Given the description of an element on the screen output the (x, y) to click on. 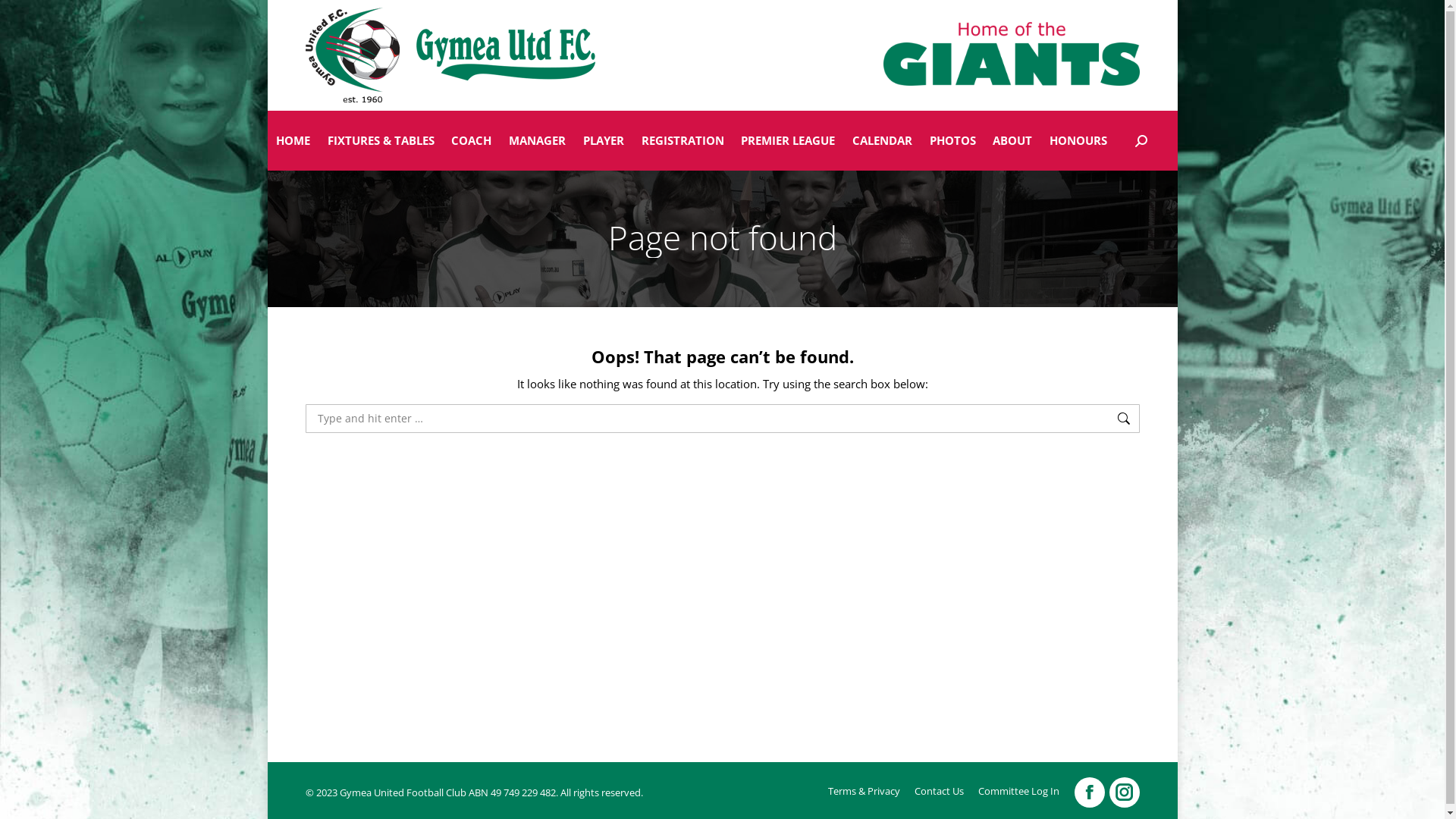
FIXTURES & TABLES Element type: text (380, 140)
HOME Element type: text (292, 140)
Facebook Element type: text (1088, 792)
PREMIER LEAGUE Element type: text (788, 140)
Go! Element type: text (15, 16)
CALENDAR Element type: text (882, 140)
Instagram Element type: text (1123, 792)
Committee Log In Element type: text (1018, 791)
HONOURS Element type: text (1078, 140)
Terms & Privacy Element type: text (864, 791)
PHOTOS Element type: text (952, 140)
ABOUT Element type: text (1012, 140)
REGISTRATION Element type: text (682, 140)
MANAGER Element type: text (537, 140)
COACH Element type: text (471, 140)
Contact Us Element type: text (938, 791)
PLAYER Element type: text (603, 140)
